Given the description of an element on the screen output the (x, y) to click on. 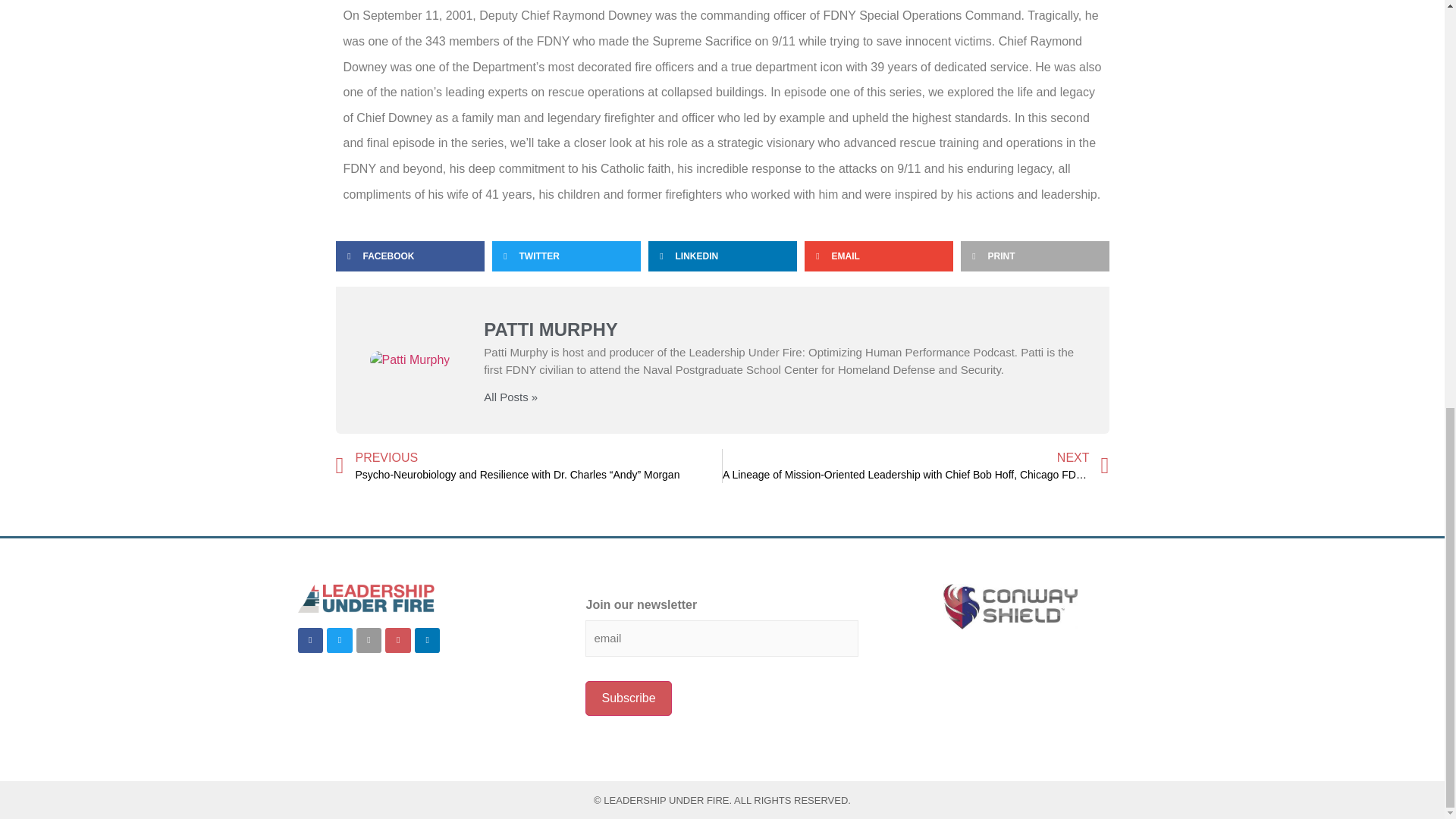
PATTI MURPHY (778, 330)
Subscribe (628, 697)
Subscribe (628, 697)
